Given the description of an element on the screen output the (x, y) to click on. 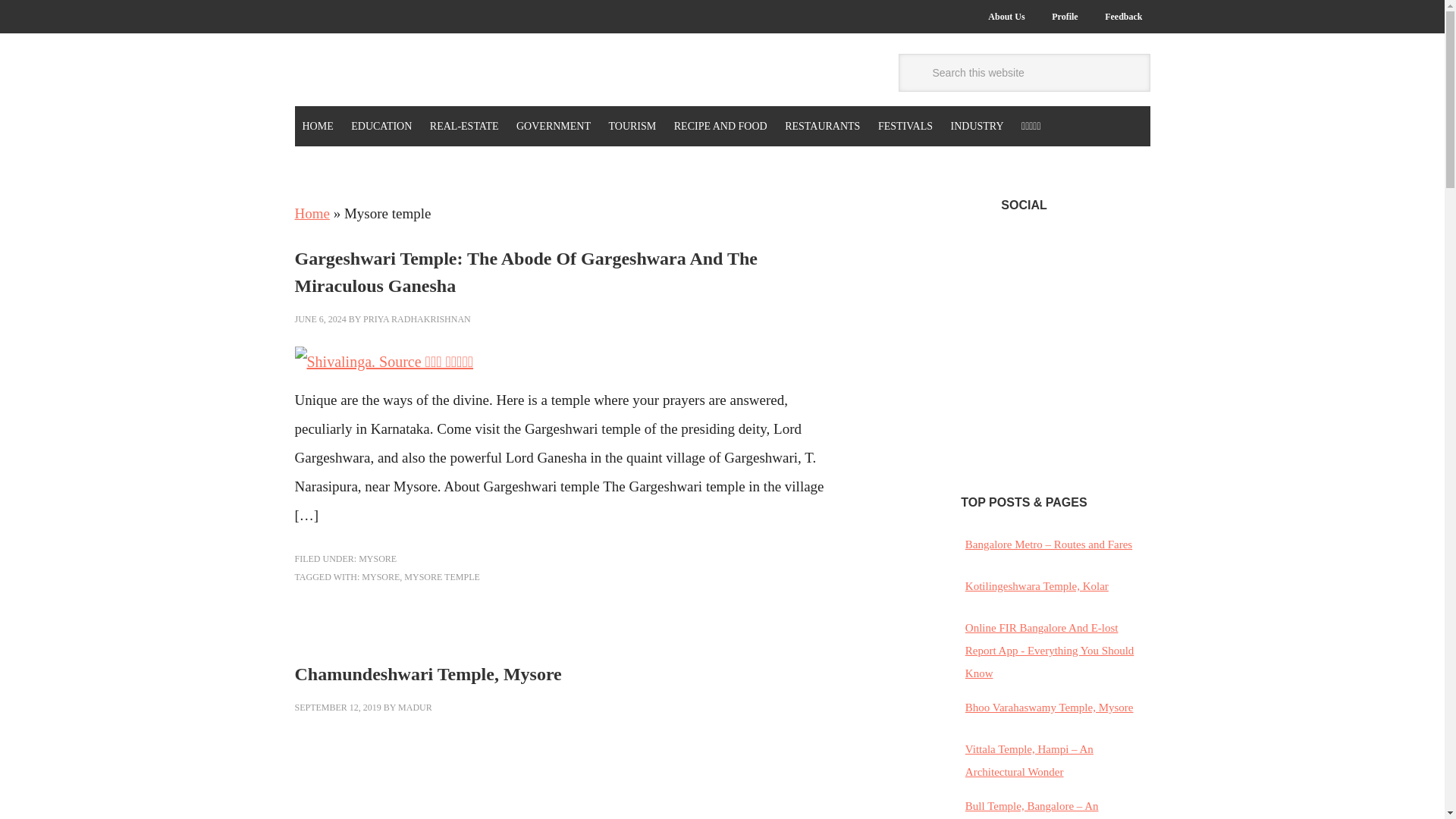
MYSORE TEMPLE (441, 576)
MADUR (414, 706)
MYSORE (377, 558)
HOME (317, 126)
Chamundeshwari Temple, Mysore (427, 673)
INDUSTRY (977, 126)
Home (311, 213)
MYSORE (379, 576)
REAL-ESTATE (464, 126)
EDUCATION (381, 126)
PRIYA RADHAKRISHNAN (416, 318)
Feedback (1123, 16)
